Given the description of an element on the screen output the (x, y) to click on. 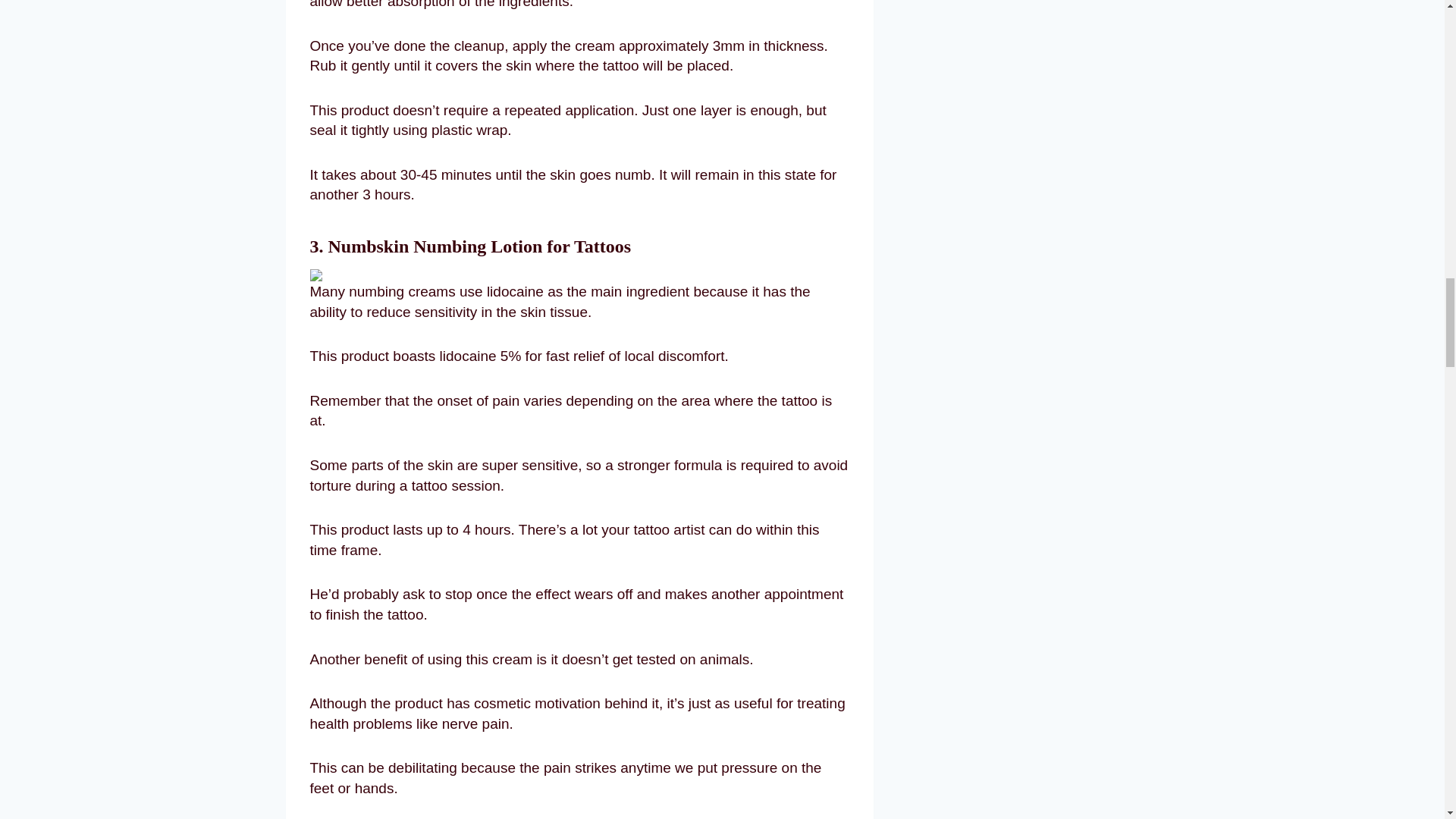
Numbskin Numbing Lotion for Tattoos (478, 246)
